Given the description of an element on the screen output the (x, y) to click on. 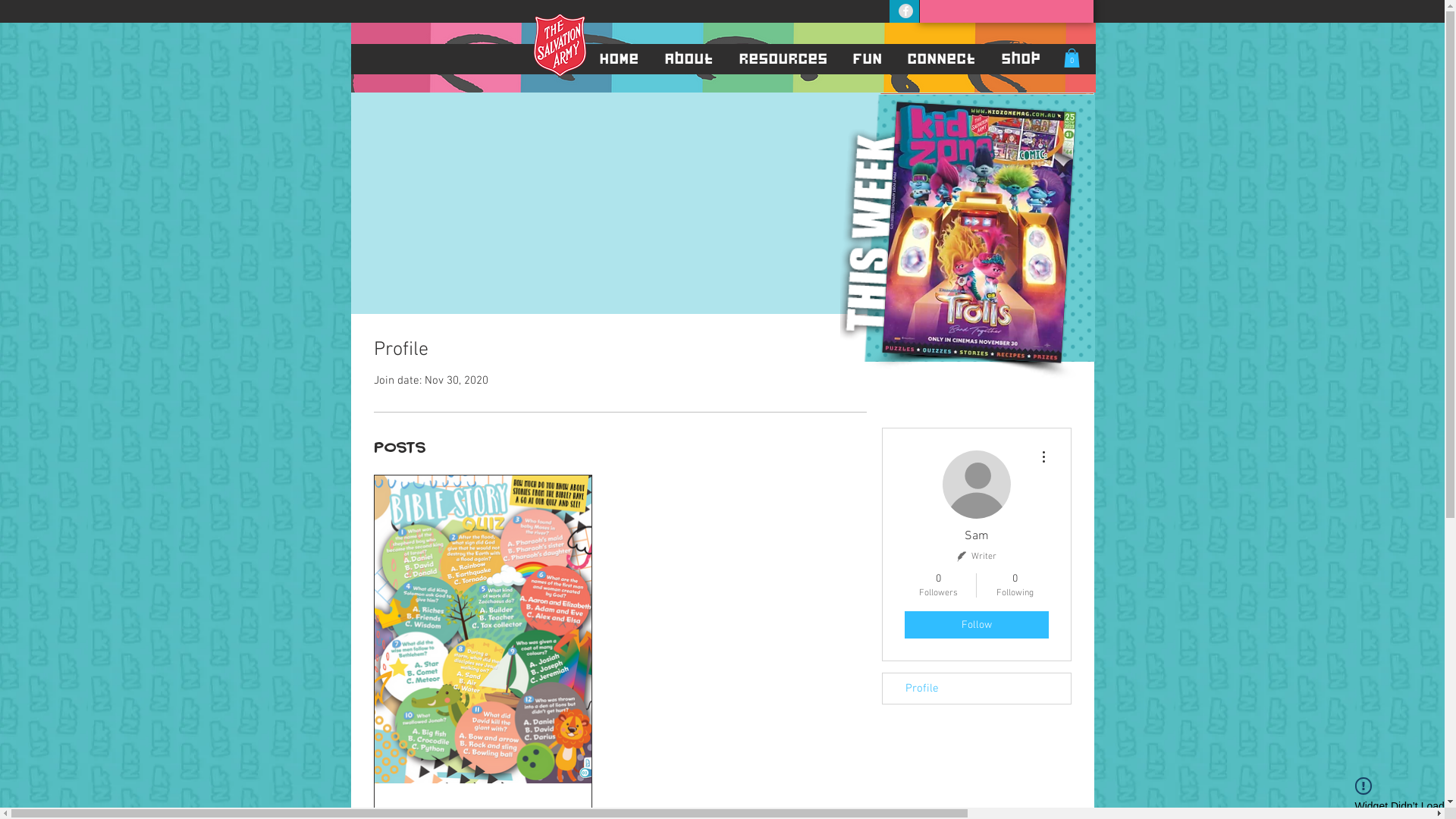
Home Element type: text (617, 57)
TSA-Shield.png Element type: hover (559, 44)
Site Search Element type: hover (1005, 13)
0
Following Element type: text (1014, 585)
Profile Element type: text (976, 688)
Follow Element type: text (975, 624)
0 Element type: text (1071, 57)
0
Followers Element type: text (937, 585)
